Given the description of an element on the screen output the (x, y) to click on. 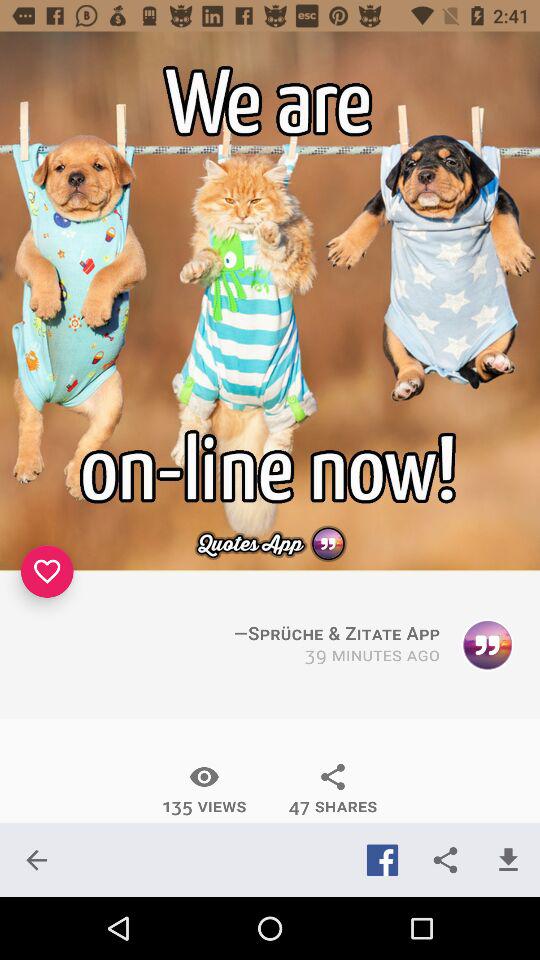
tap item above the 47 shares icon (372, 655)
